Given the description of an element on the screen output the (x, y) to click on. 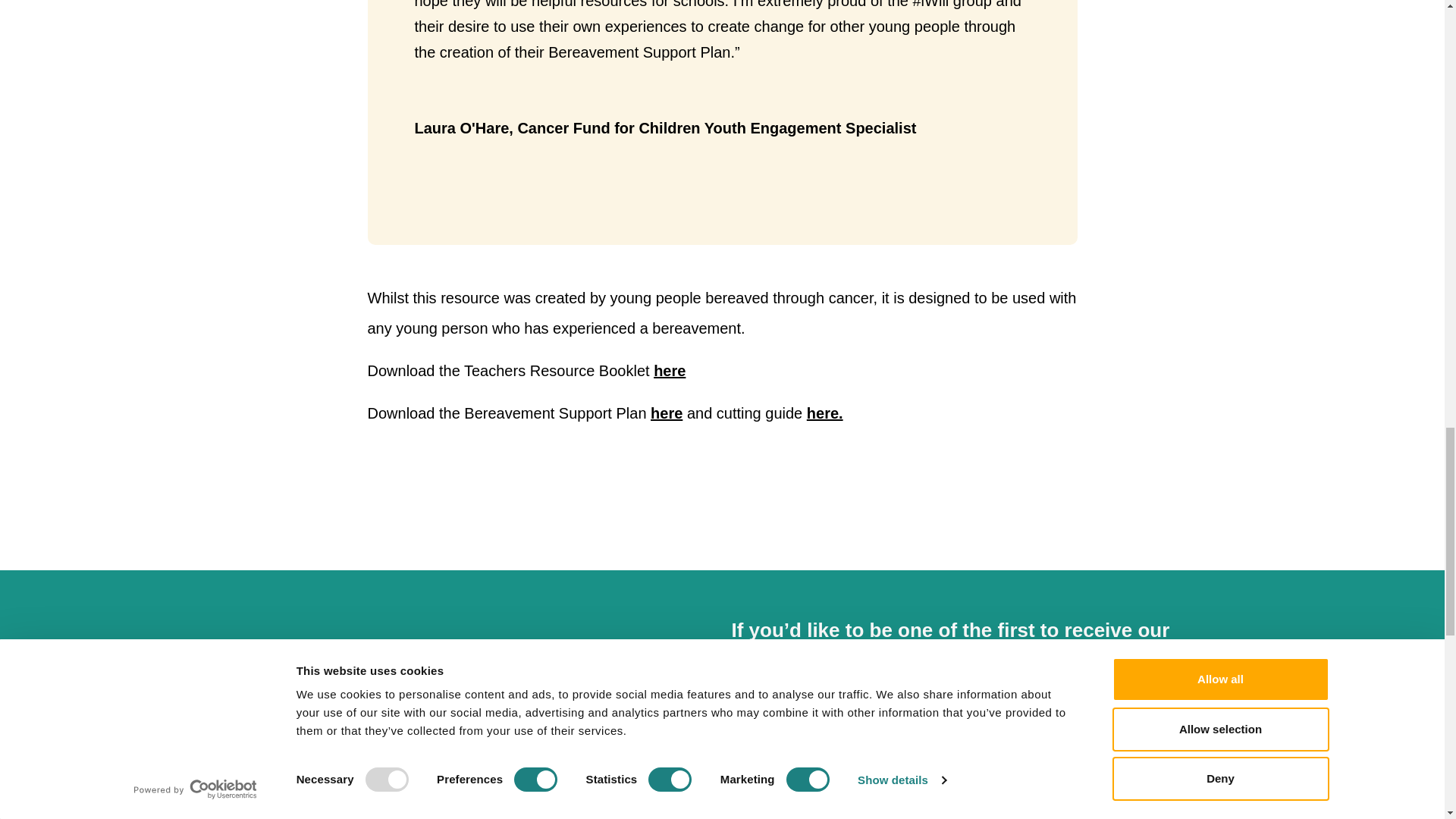
Sign Up (1173, 756)
1 (737, 806)
